Given the description of an element on the screen output the (x, y) to click on. 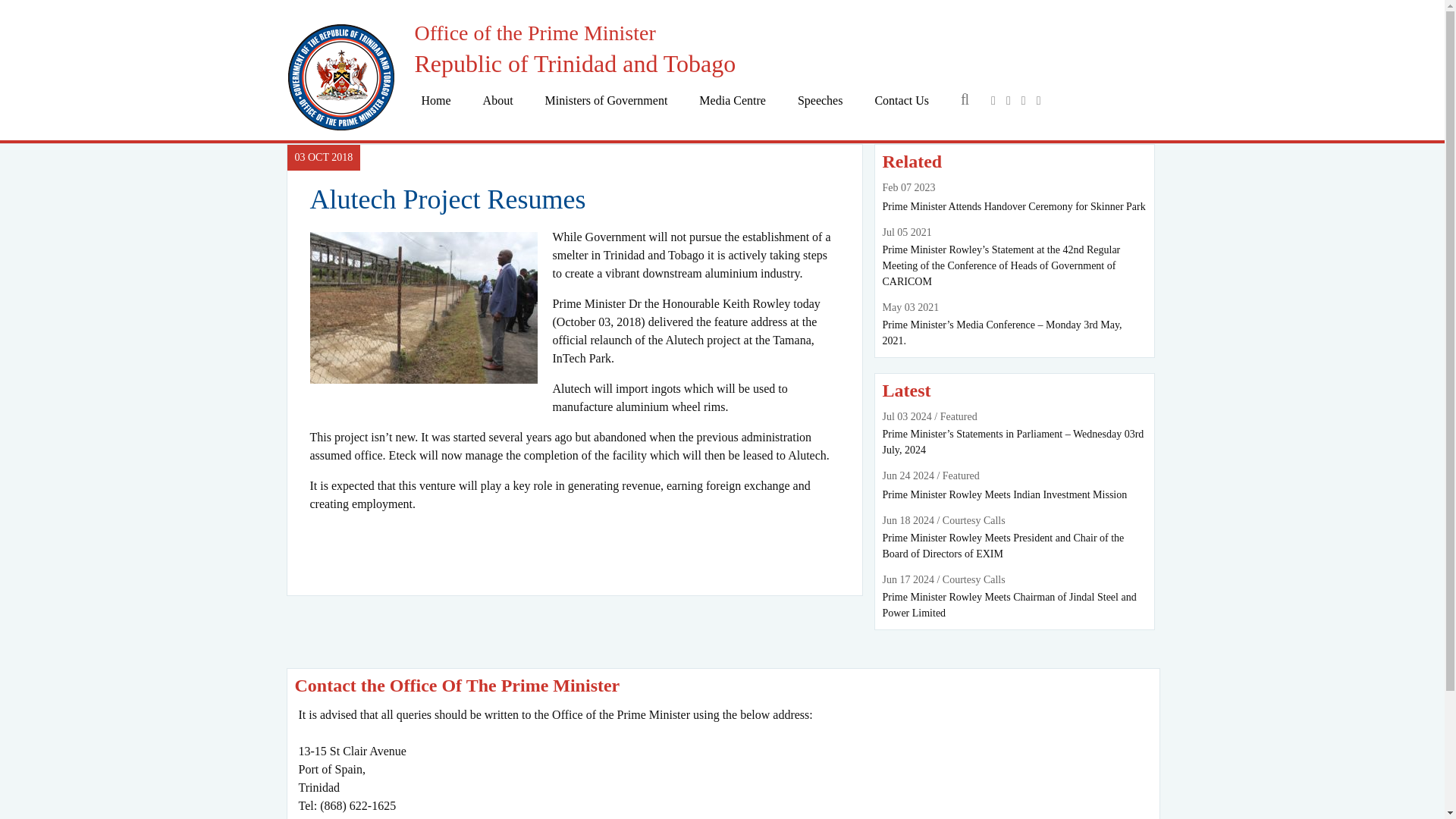
Facebook (989, 100)
Ministers of Government (606, 100)
Media Centre (731, 100)
YouTube (1019, 100)
Home (436, 100)
About (498, 100)
Twitter (1004, 100)
Instagram (1035, 100)
